Given the description of an element on the screen output the (x, y) to click on. 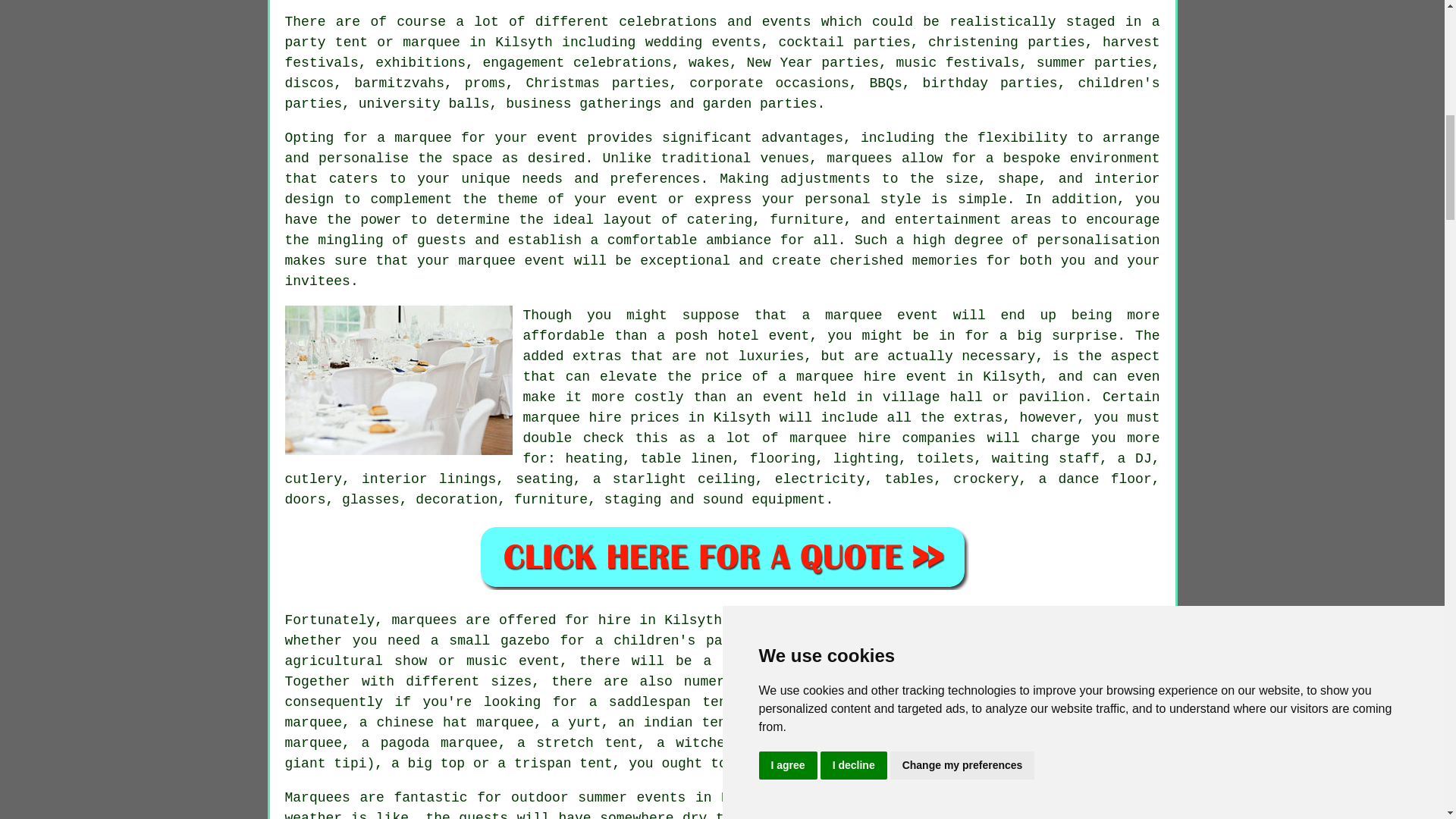
Marquee Hire Quotes in Kilsyth Scotland (722, 556)
marquee hire companies (882, 437)
marquee hire prices in Kilsyth (646, 417)
marquee (853, 314)
